Given the description of an element on the screen output the (x, y) to click on. 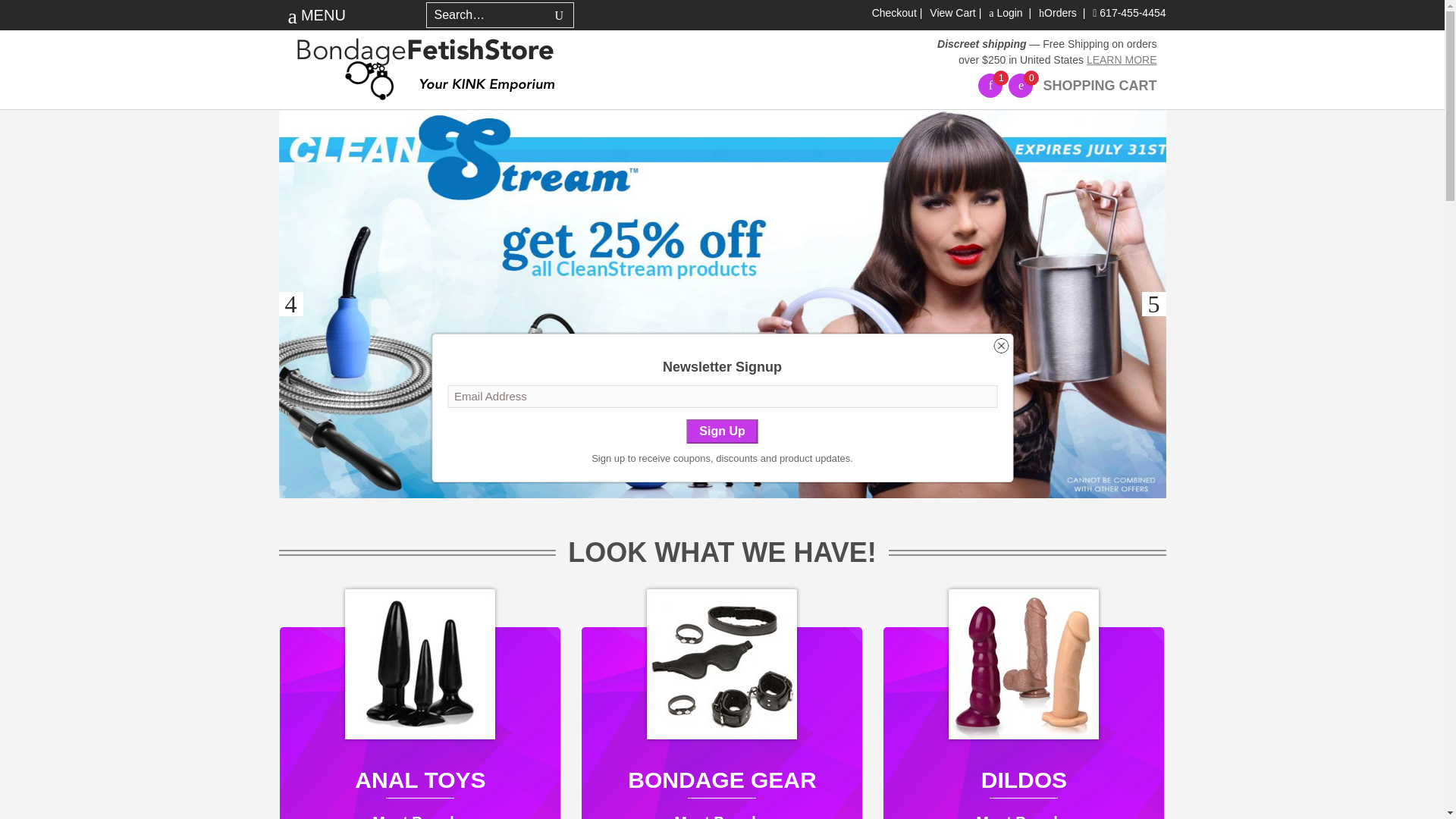
BONDAGE GEAR (721, 663)
Welcome to Bondage Fetish Store, Your adult superstore (426, 63)
View Cart (952, 12)
Bondage Fetish Store (427, 63)
Sign Up (721, 431)
Anal toys (420, 663)
Bondage fetish bdsm DILDOS (1024, 663)
